Given the description of an element on the screen output the (x, y) to click on. 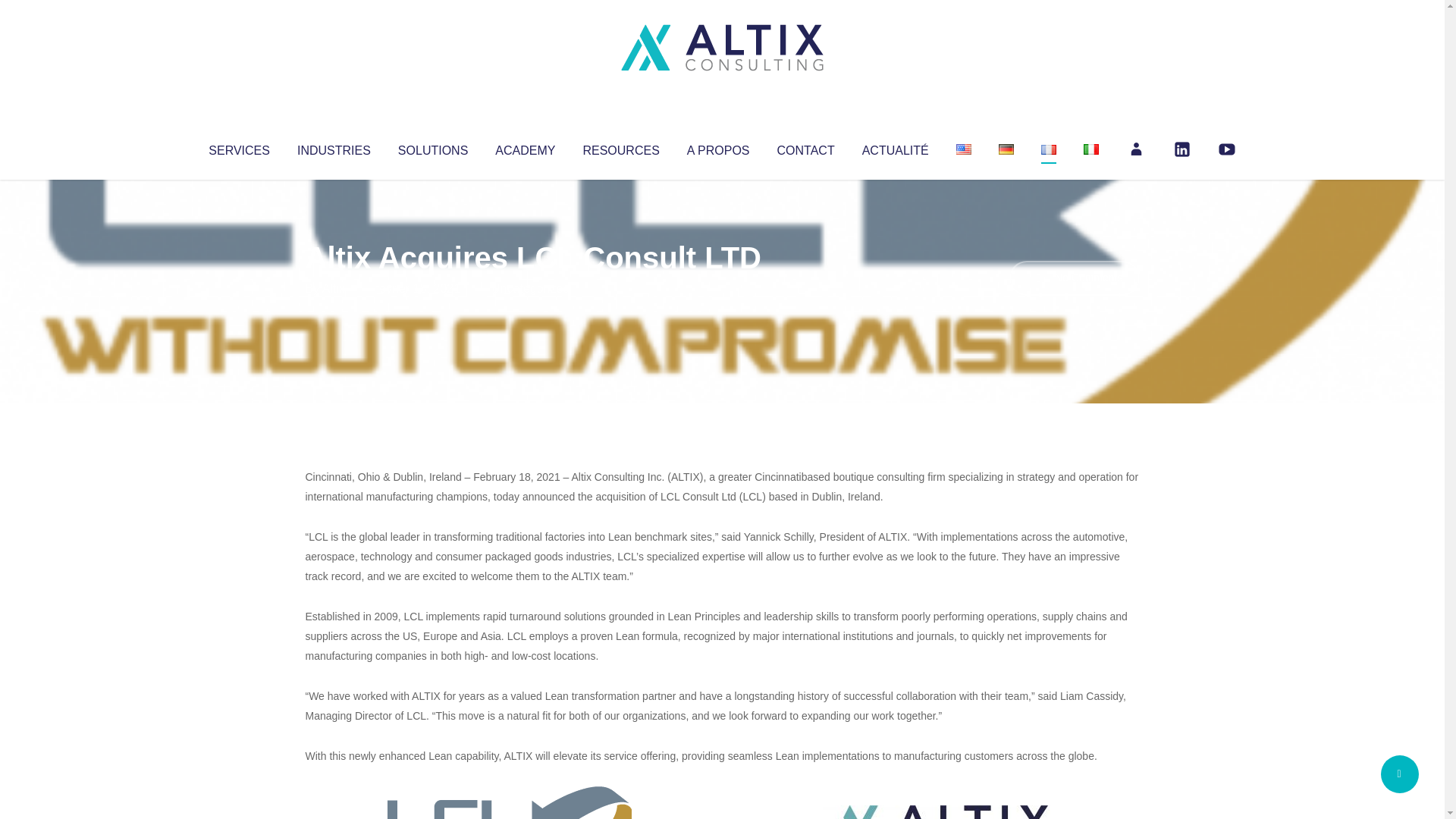
SERVICES (238, 146)
A PROPOS (718, 146)
SOLUTIONS (432, 146)
Uncategorized (530, 287)
Articles par Altix (333, 287)
INDUSTRIES (334, 146)
RESOURCES (620, 146)
ACADEMY (524, 146)
No Comments (1073, 278)
Altix (333, 287)
